Given the description of an element on the screen output the (x, y) to click on. 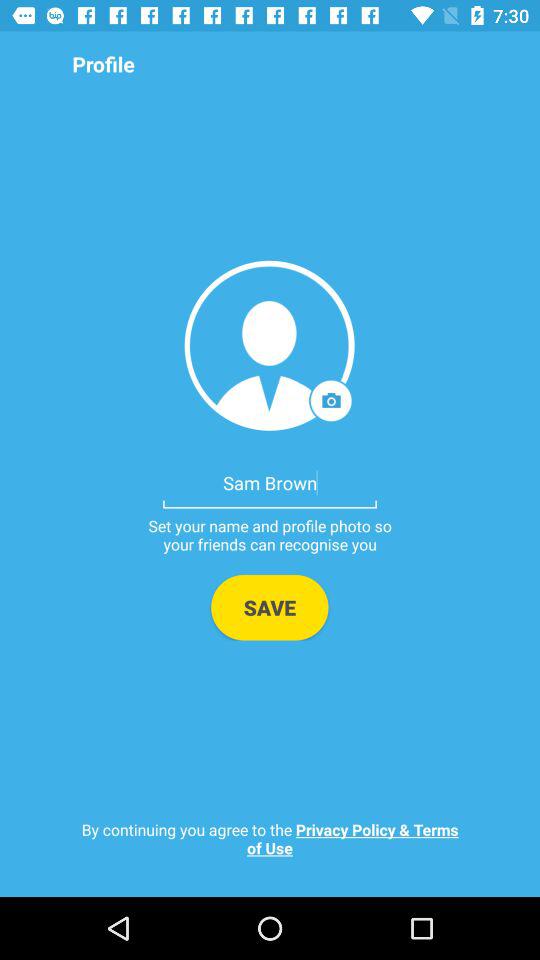
open the icon below the save icon (269, 838)
